Given the description of an element on the screen output the (x, y) to click on. 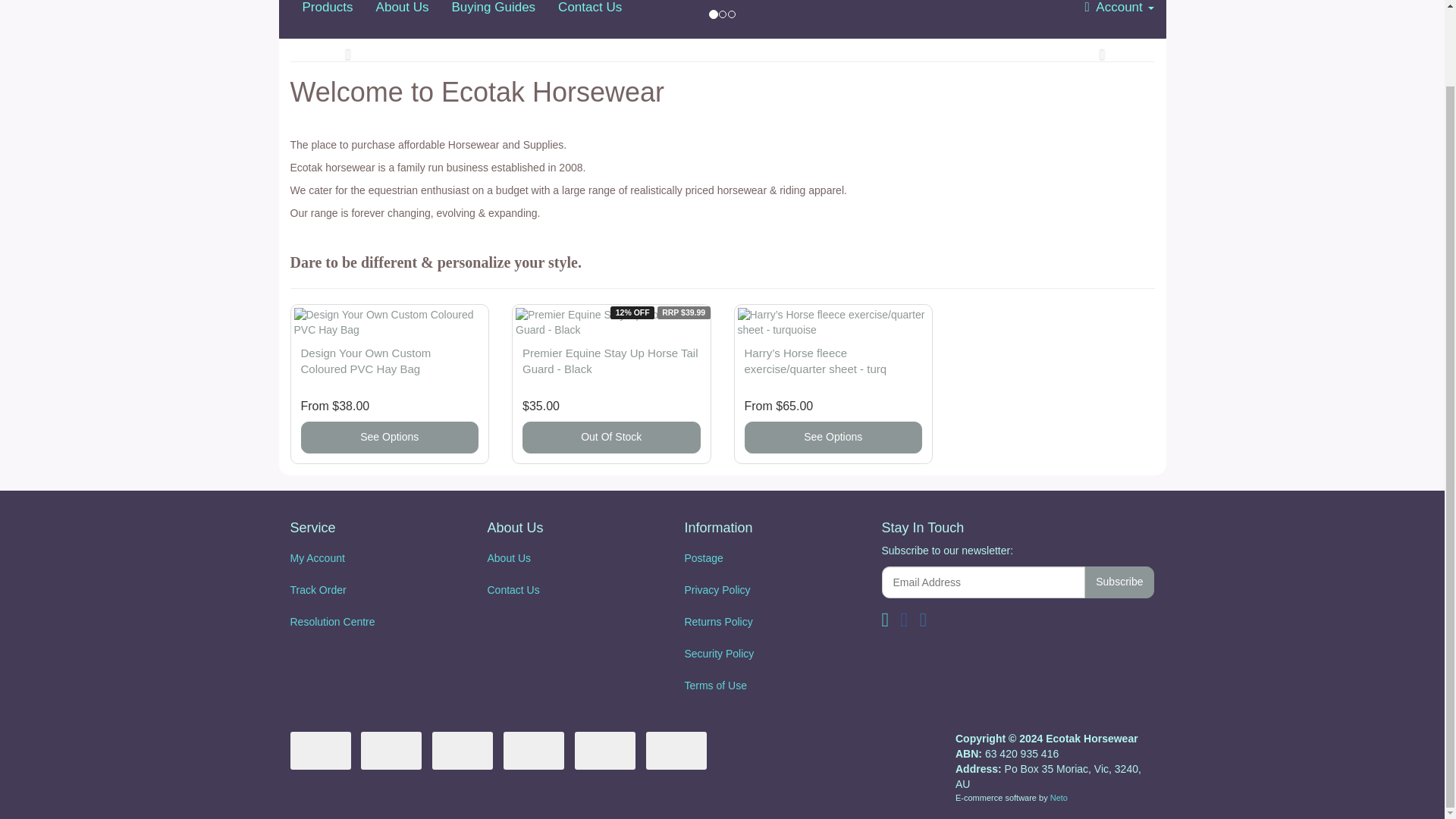
Buying Options (833, 437)
Products (328, 18)
Track Order (371, 590)
Notify Me When Back In Stock (611, 437)
Design Your Own Custom Coloured PVC Hay Bag (364, 360)
Premier Equine Stay Up Horse Tail Guard - Black (610, 360)
Premier Equine Stay Up Horse Tail Guard - Black (610, 360)
Resolution Centre (371, 622)
 Account (1120, 18)
Contact Us (590, 18)
